Given the description of an element on the screen output the (x, y) to click on. 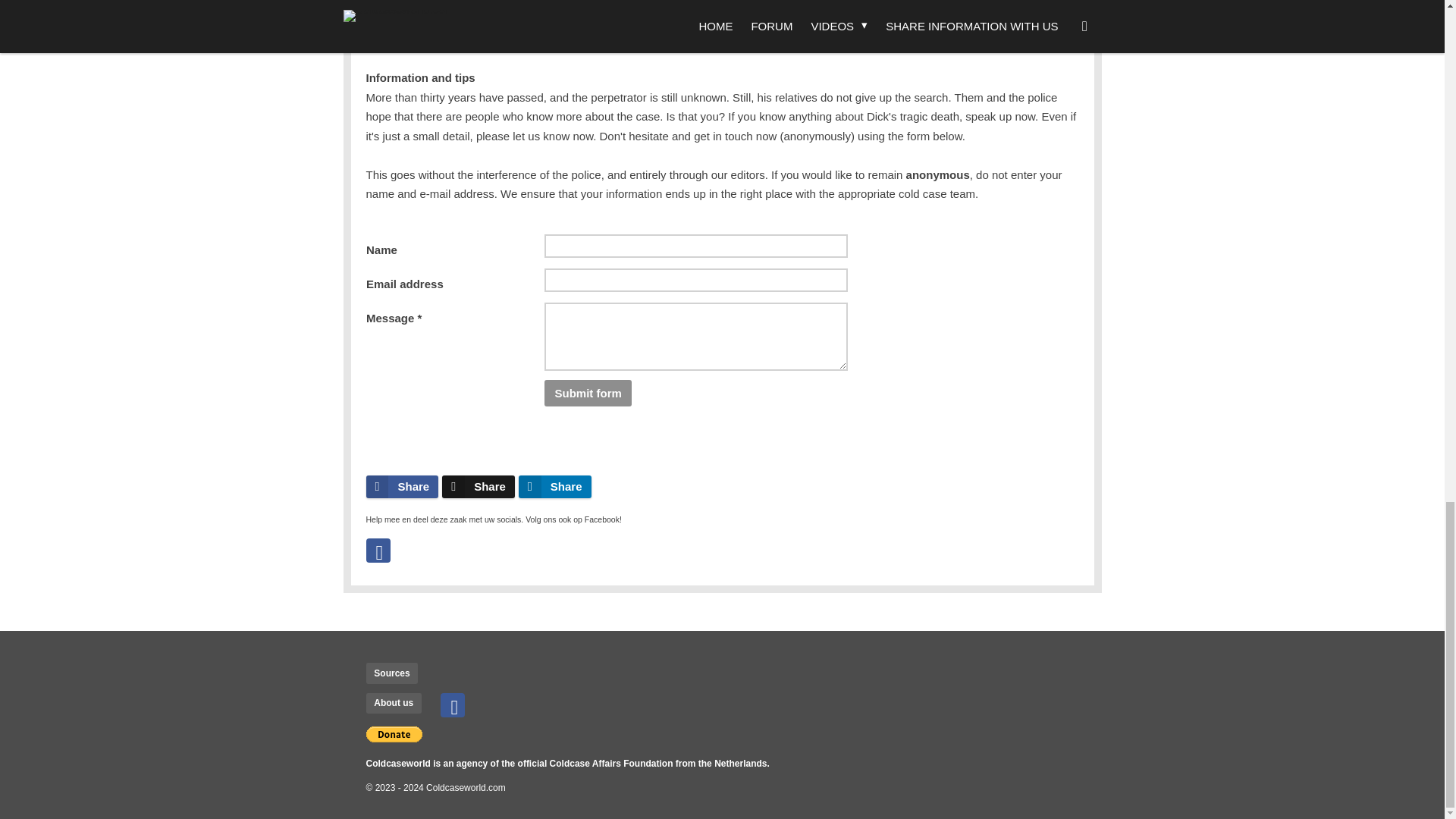
Share (401, 486)
PayPal - The safer, easier way to pay online! (393, 734)
Sources (391, 672)
About us (393, 703)
Share (478, 486)
Sources (391, 672)
Share (554, 486)
About us (393, 703)
Submit form (587, 393)
